Given the description of an element on the screen output the (x, y) to click on. 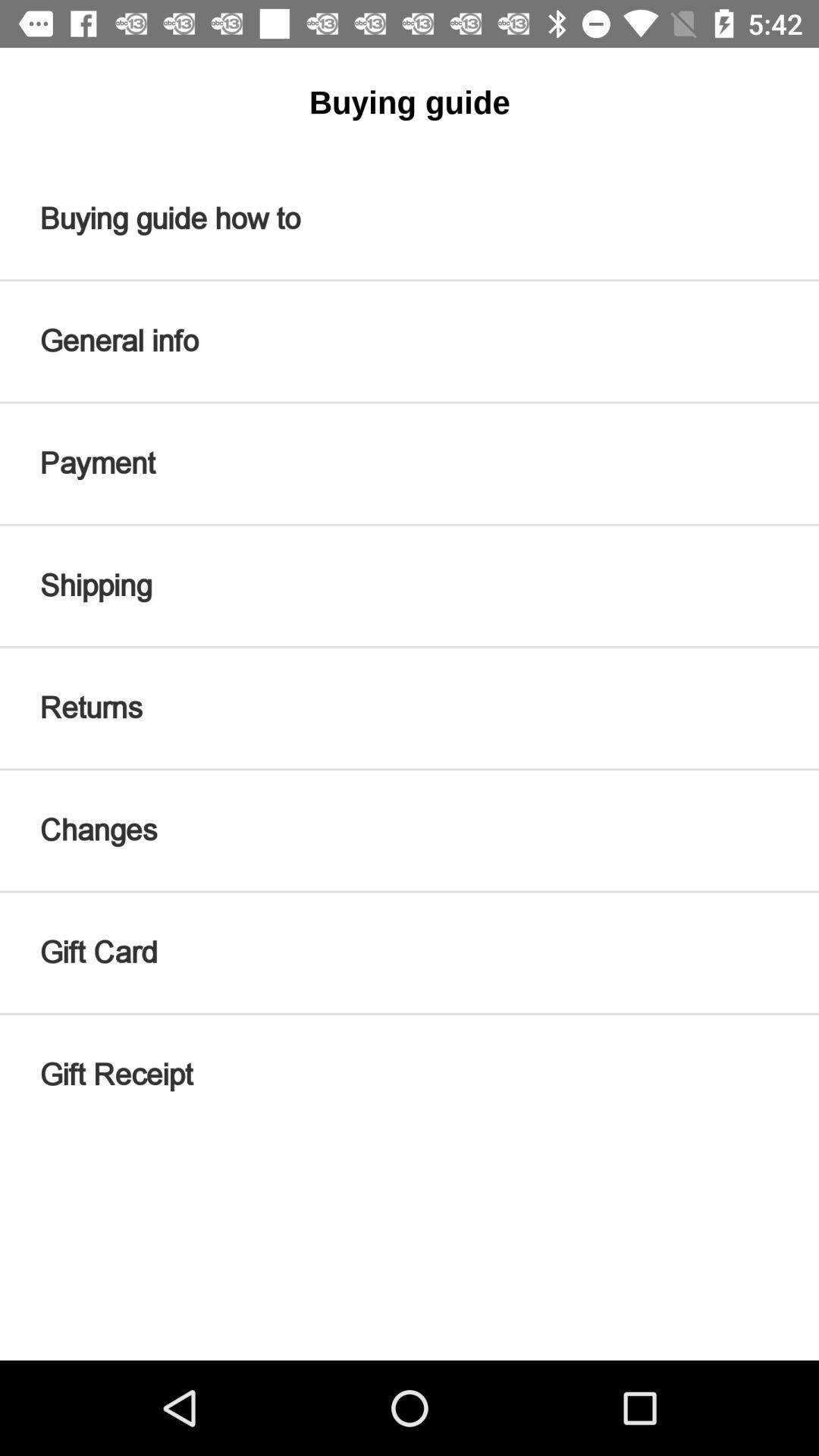
tap item above changes item (409, 708)
